Given the description of an element on the screen output the (x, y) to click on. 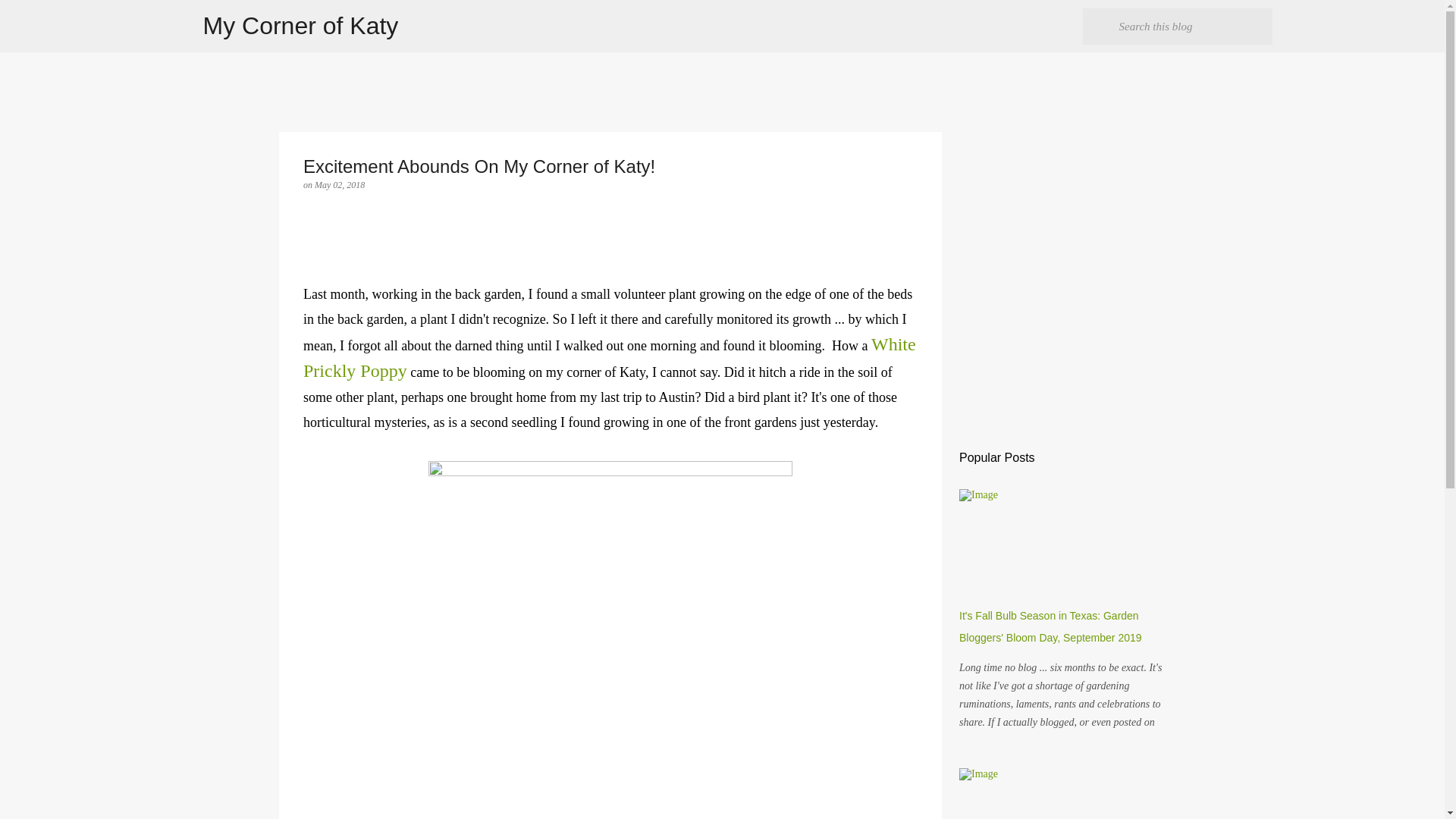
May 02, 2018 (339, 184)
White Prickly Poppy (608, 357)
My Corner of Katy (300, 25)
permanent link (339, 184)
